Given the description of an element on the screen output the (x, y) to click on. 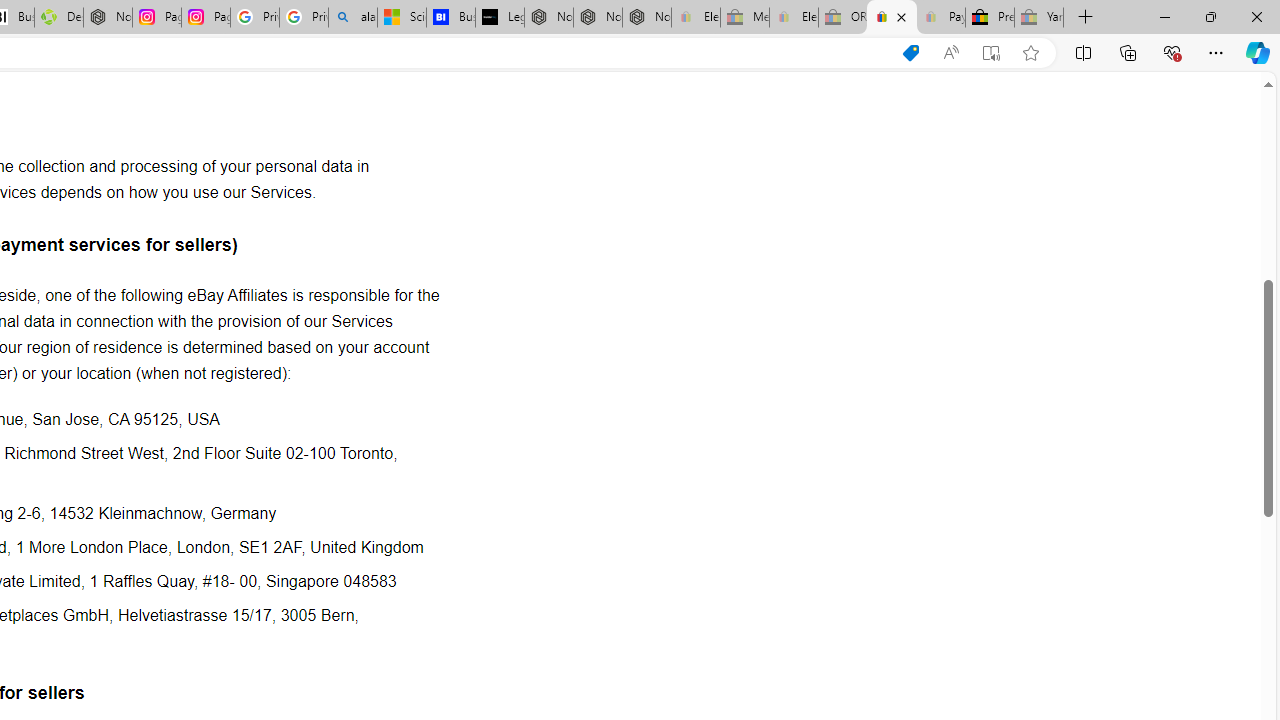
This site has coupons! Shopping in Microsoft Edge (910, 53)
alabama high school quarterback dies - Search (353, 17)
Yard, Garden & Outdoor Living - Sleeping (1039, 17)
Payments Terms of Use | eBay.com - Sleeping (940, 17)
